Given the description of an element on the screen output the (x, y) to click on. 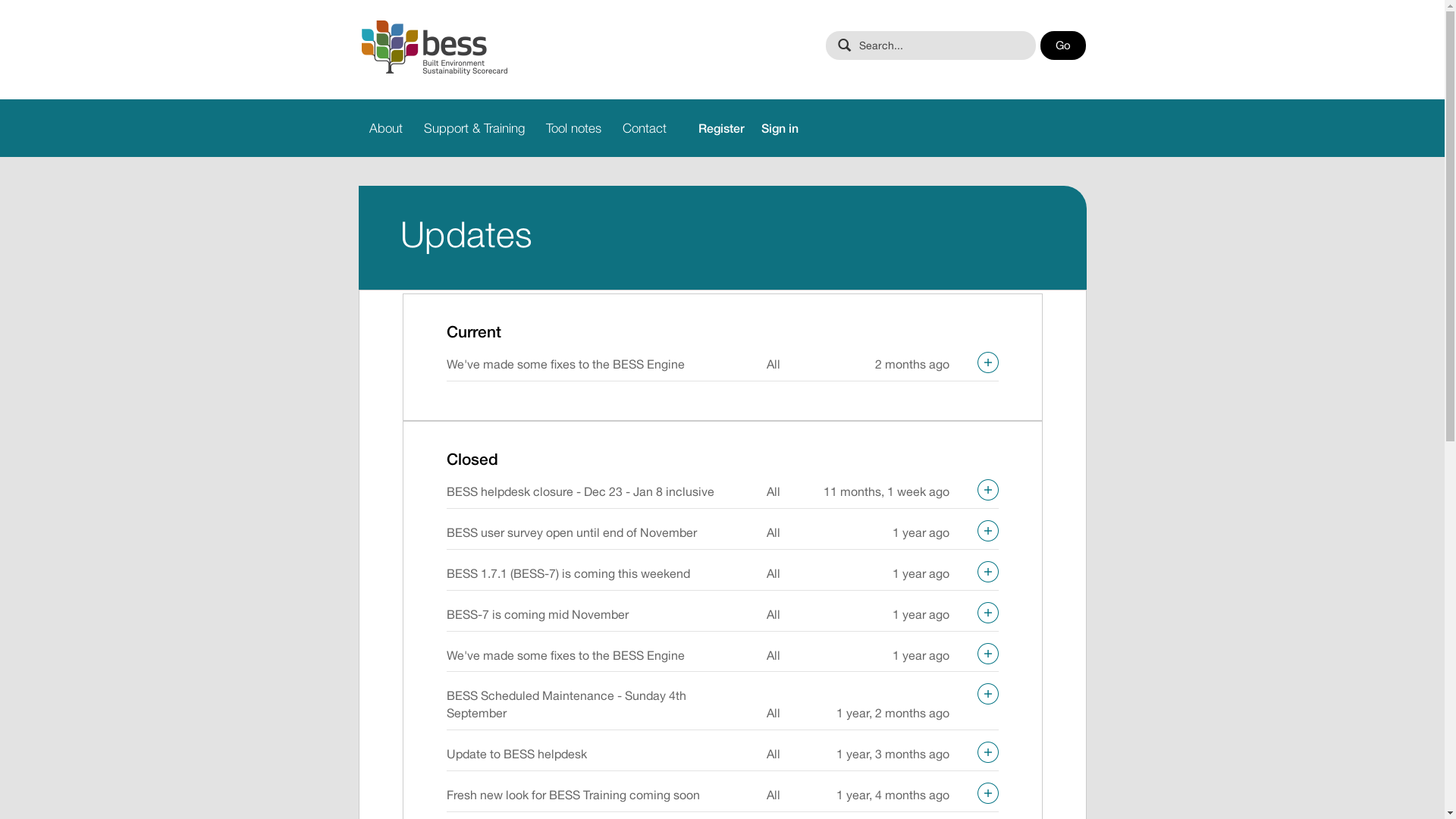
Expand Element type: text (986, 489)
Tool notes Element type: text (573, 127)
Register Element type: text (712, 127)
Expand Element type: text (986, 362)
Expand Element type: text (986, 612)
Expand Element type: text (986, 653)
Go Element type: text (1062, 45)
Expand Element type: text (986, 571)
Sign in Element type: text (779, 127)
Expand Element type: text (986, 751)
About Element type: text (384, 127)
Expand Element type: text (986, 792)
Expand Element type: text (986, 693)
Contact Element type: text (643, 127)
Support & Training Element type: text (473, 127)
Expand Element type: text (986, 530)
